Given the description of an element on the screen output the (x, y) to click on. 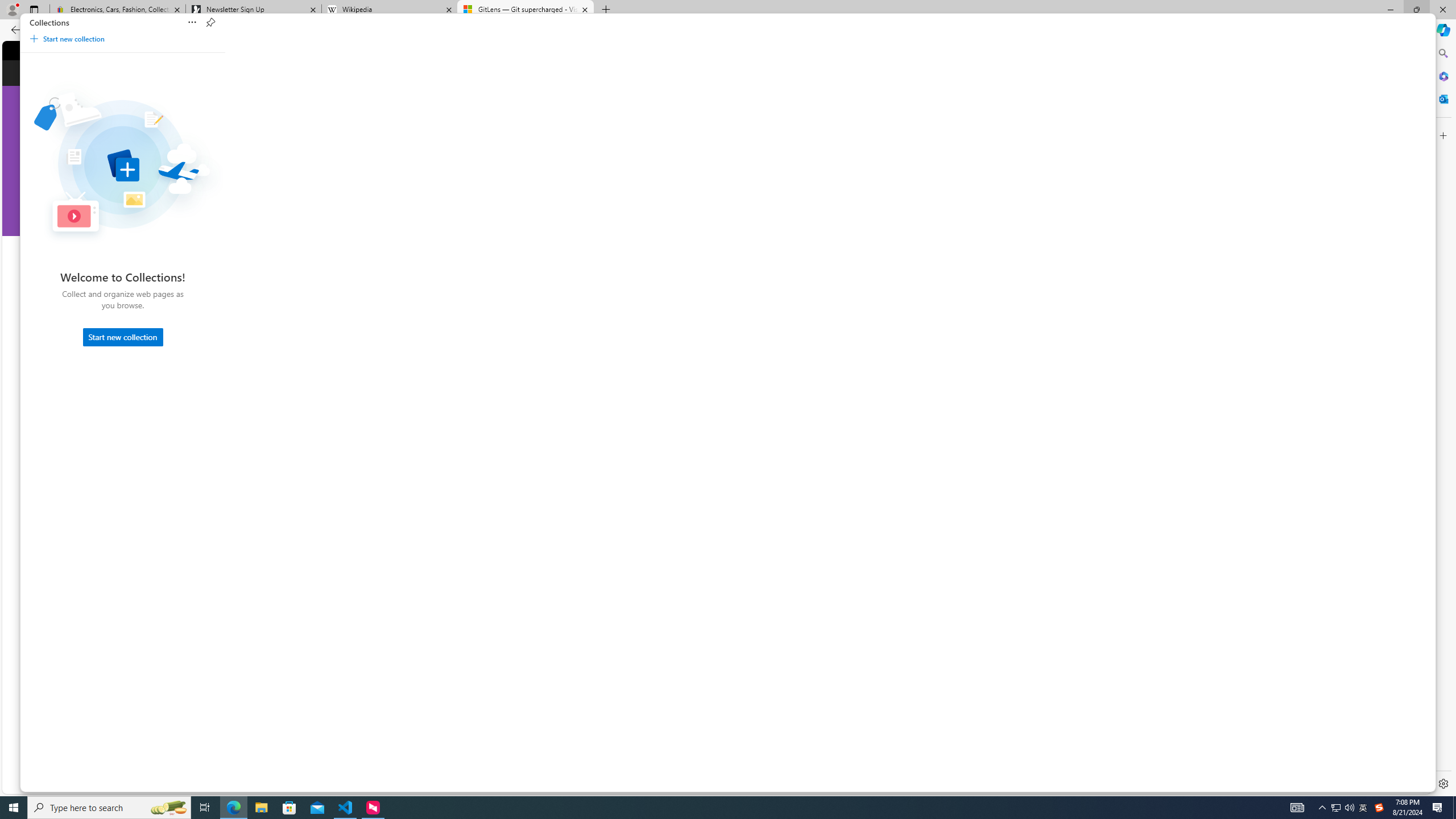
Start new collection (122, 336)
Sort (192, 22)
Pin Collections (210, 22)
